Given the description of an element on the screen output the (x, y) to click on. 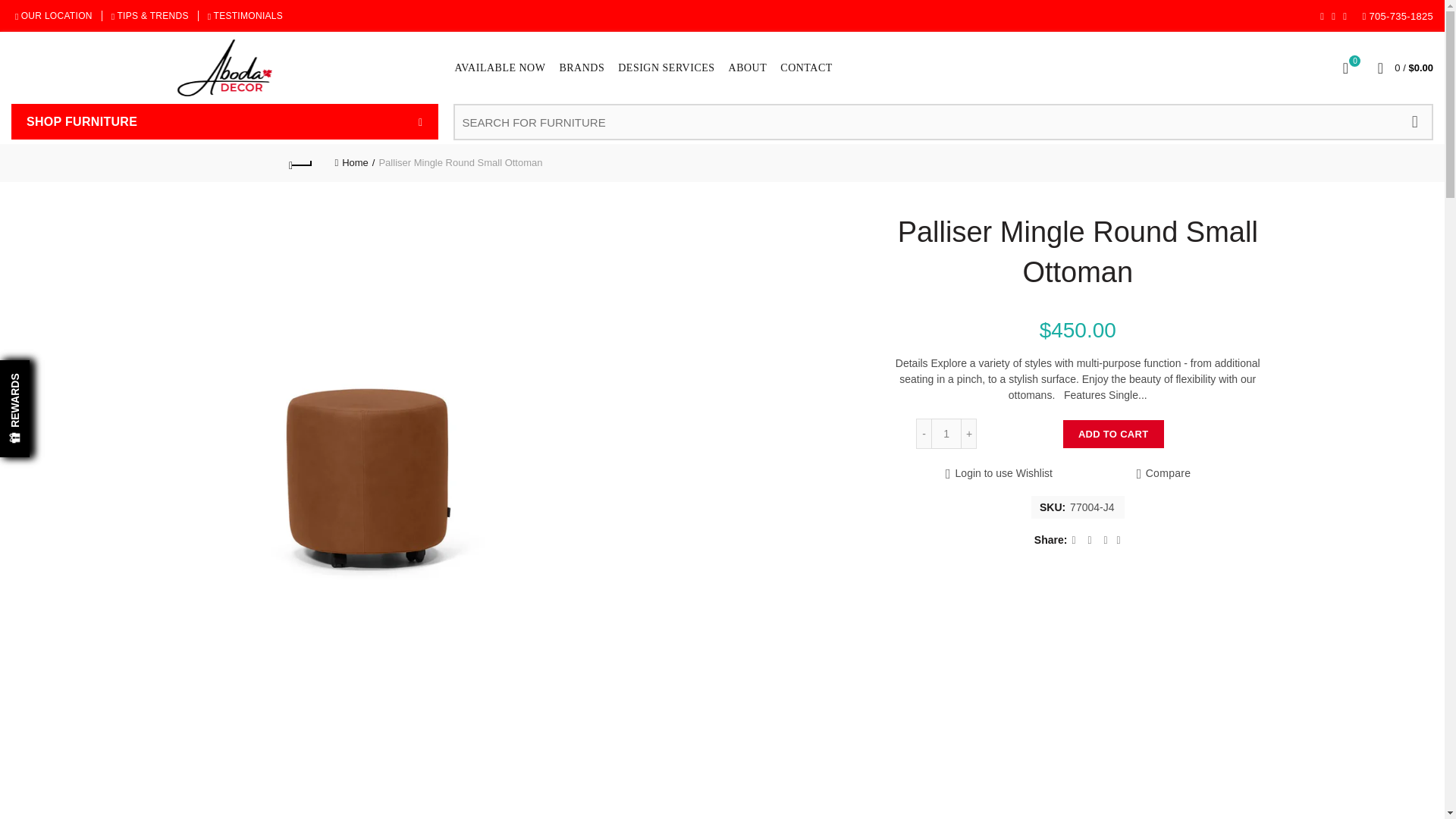
1 (945, 433)
Qty (945, 433)
